Given the description of an element on the screen output the (x, y) to click on. 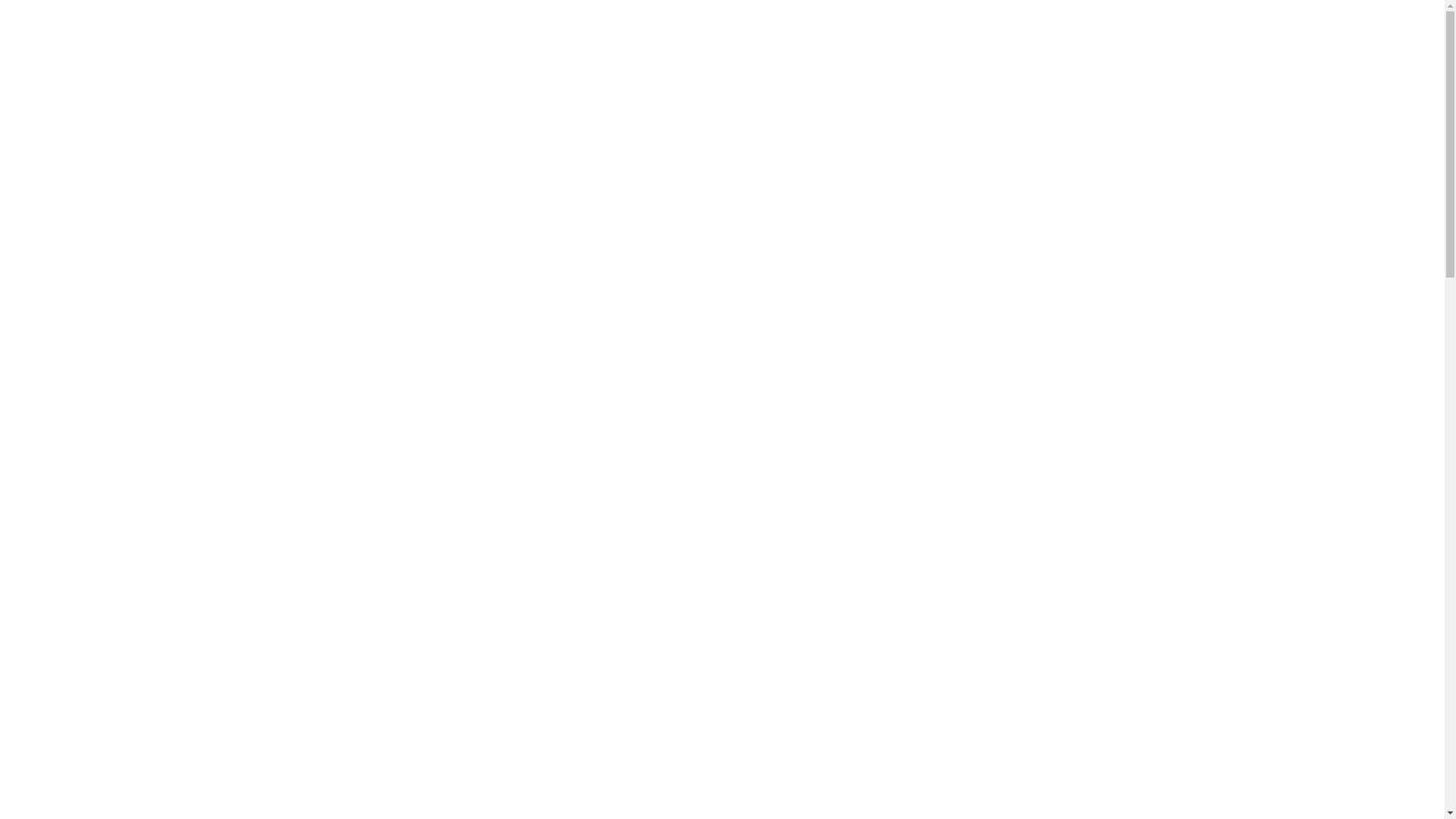
E-MAIL:
info@vcb.by Element type: text (848, 63)
